Given the description of an element on the screen output the (x, y) to click on. 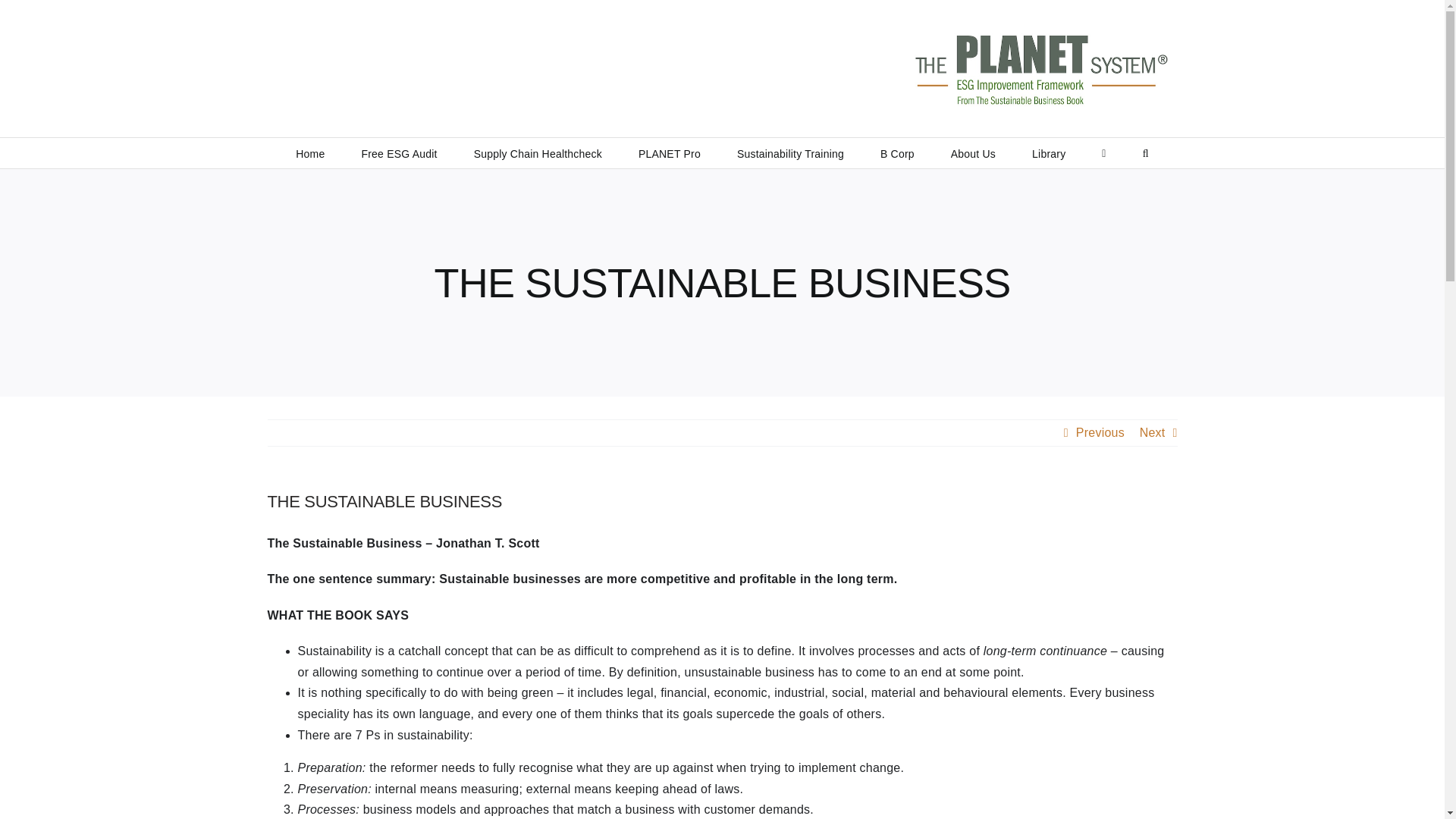
Library (1048, 153)
Supply Chain Healthcheck (538, 153)
B Corp (897, 153)
PLANET Pro (669, 153)
Sustainability Training (790, 153)
Next (1153, 432)
Free ESG Audit (398, 153)
Home (309, 153)
About Us (972, 153)
Previous (1099, 432)
